Given the description of an element on the screen output the (x, y) to click on. 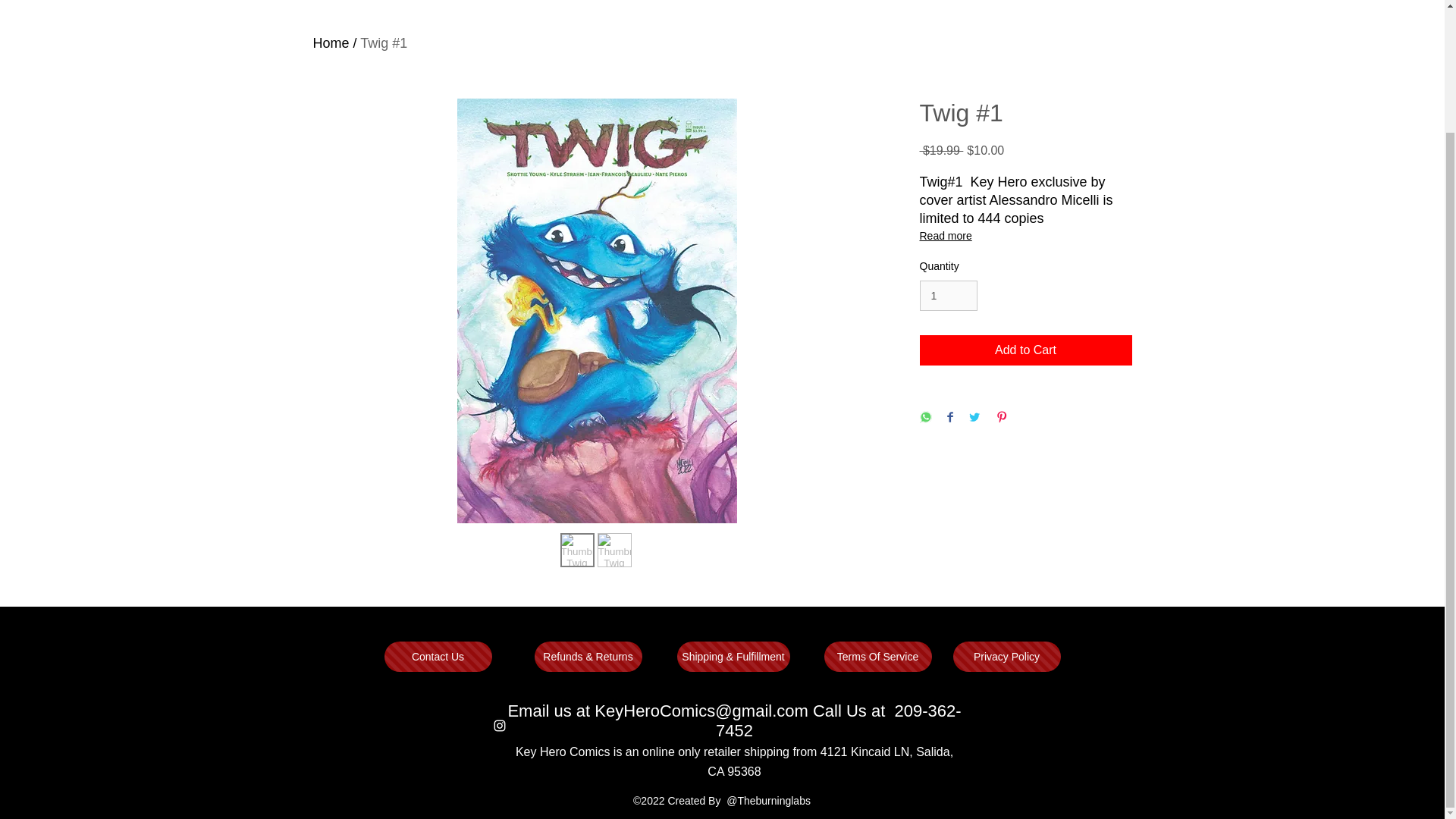
Read more (1024, 235)
1 (947, 296)
Terms Of Service (877, 656)
Home (331, 43)
Contact Us (438, 656)
Privacy Policy (1005, 656)
Add to Cart (1024, 349)
